Given the description of an element on the screen output the (x, y) to click on. 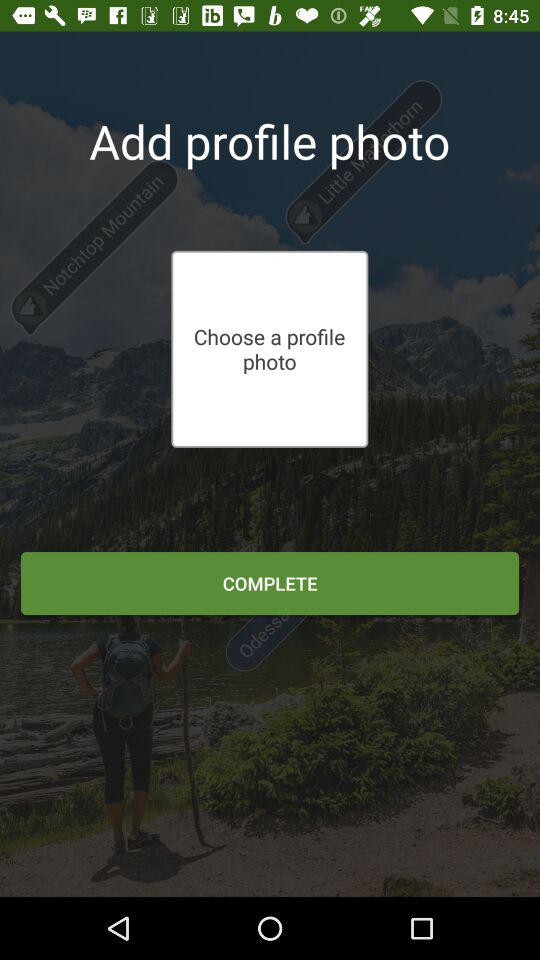
turn on the choose a profile (269, 349)
